Given the description of an element on the screen output the (x, y) to click on. 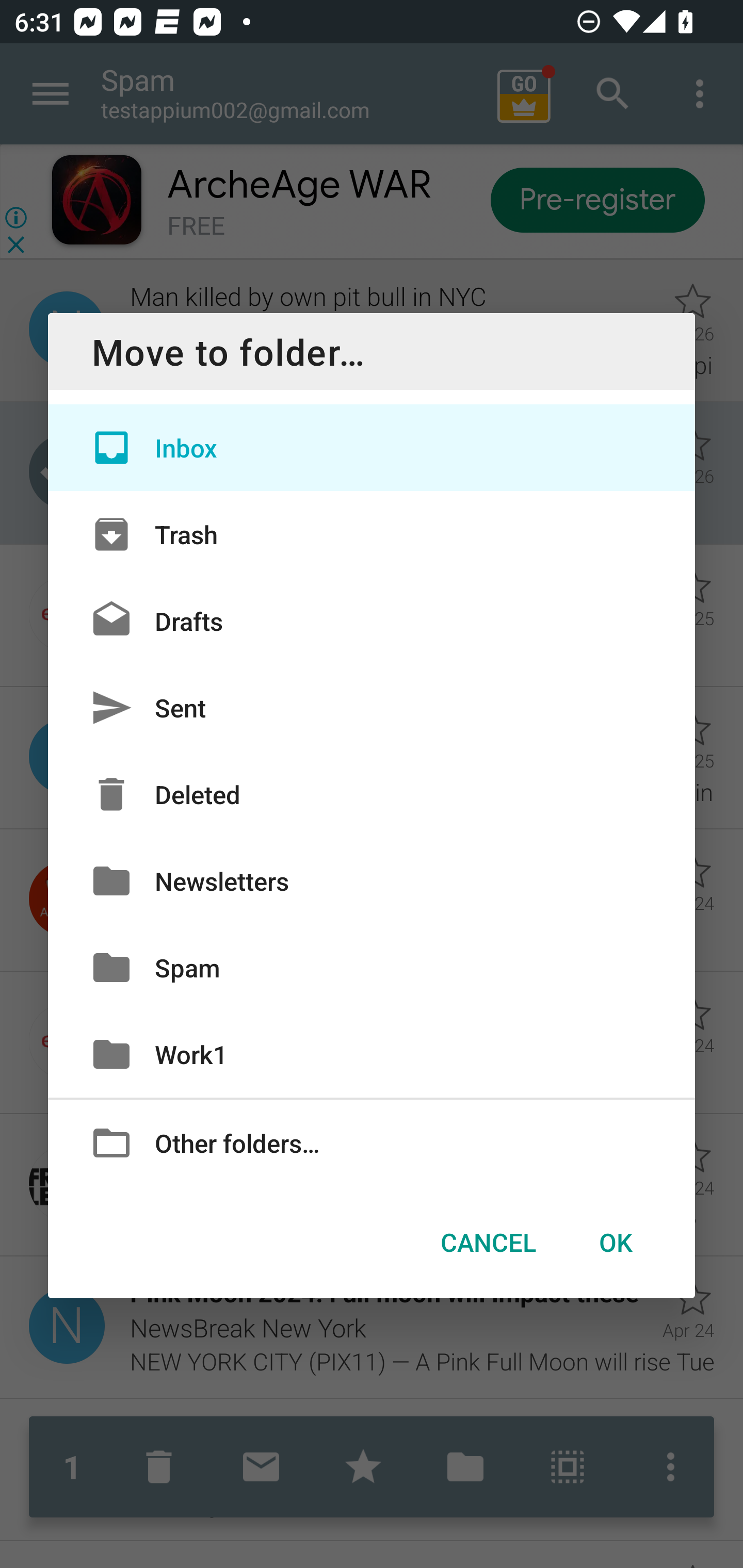
Inbox (371, 447)
Trash (371, 533)
Drafts (371, 620)
Sent (371, 707)
Deleted (371, 794)
Newsletters (371, 880)
Spam (371, 967)
Work1 (371, 1054)
Other folders… (371, 1141)
CANCEL (488, 1241)
OK (615, 1241)
